Given the description of an element on the screen output the (x, y) to click on. 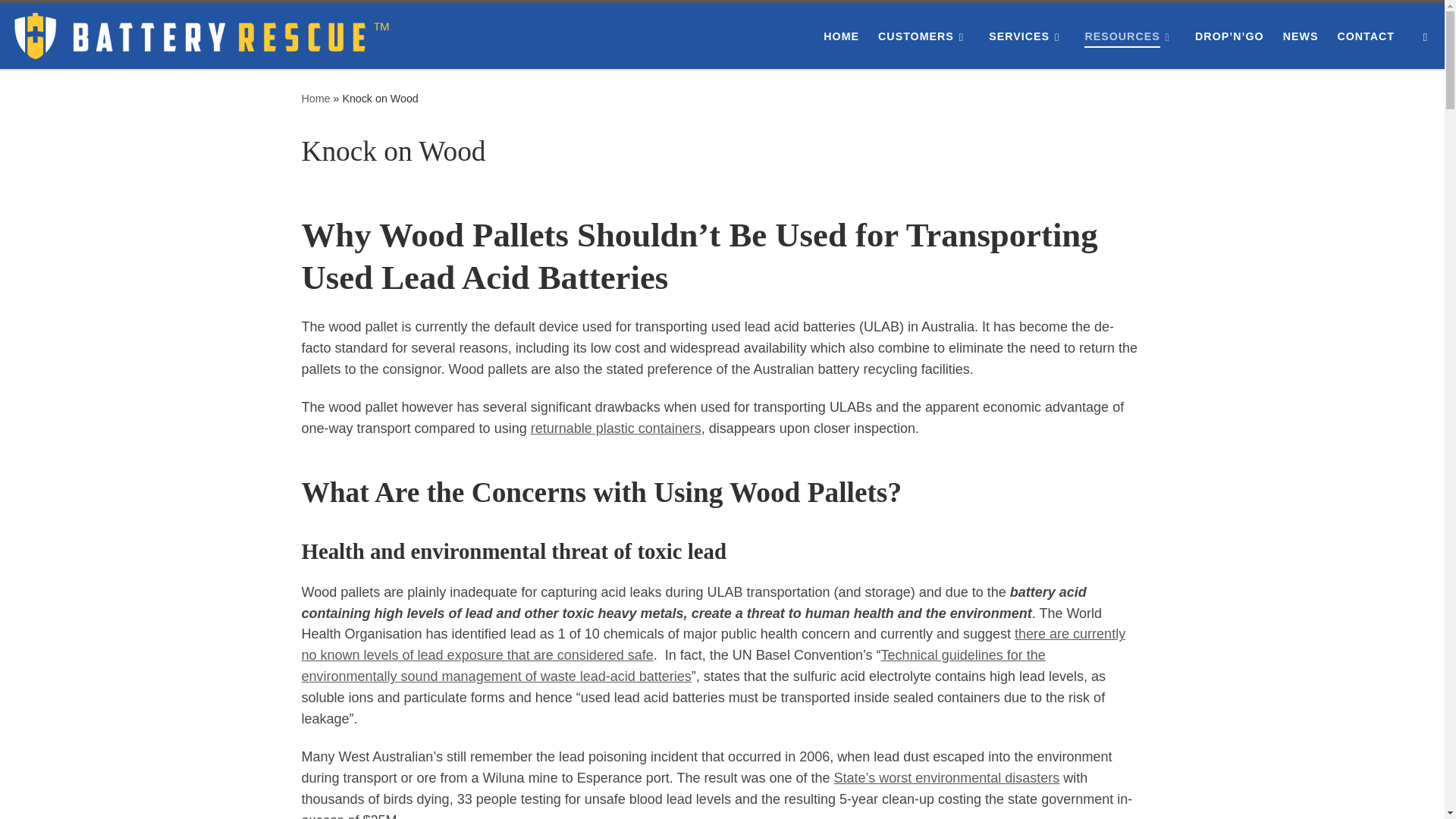
HOME (840, 36)
SERVICES (1027, 36)
RESOURCES (1130, 36)
Car Battery Disposal (1229, 36)
NEWS (1300, 36)
CONTACT (1365, 36)
Skip to content (60, 20)
CUSTOMERS (924, 36)
